Given the description of an element on the screen output the (x, y) to click on. 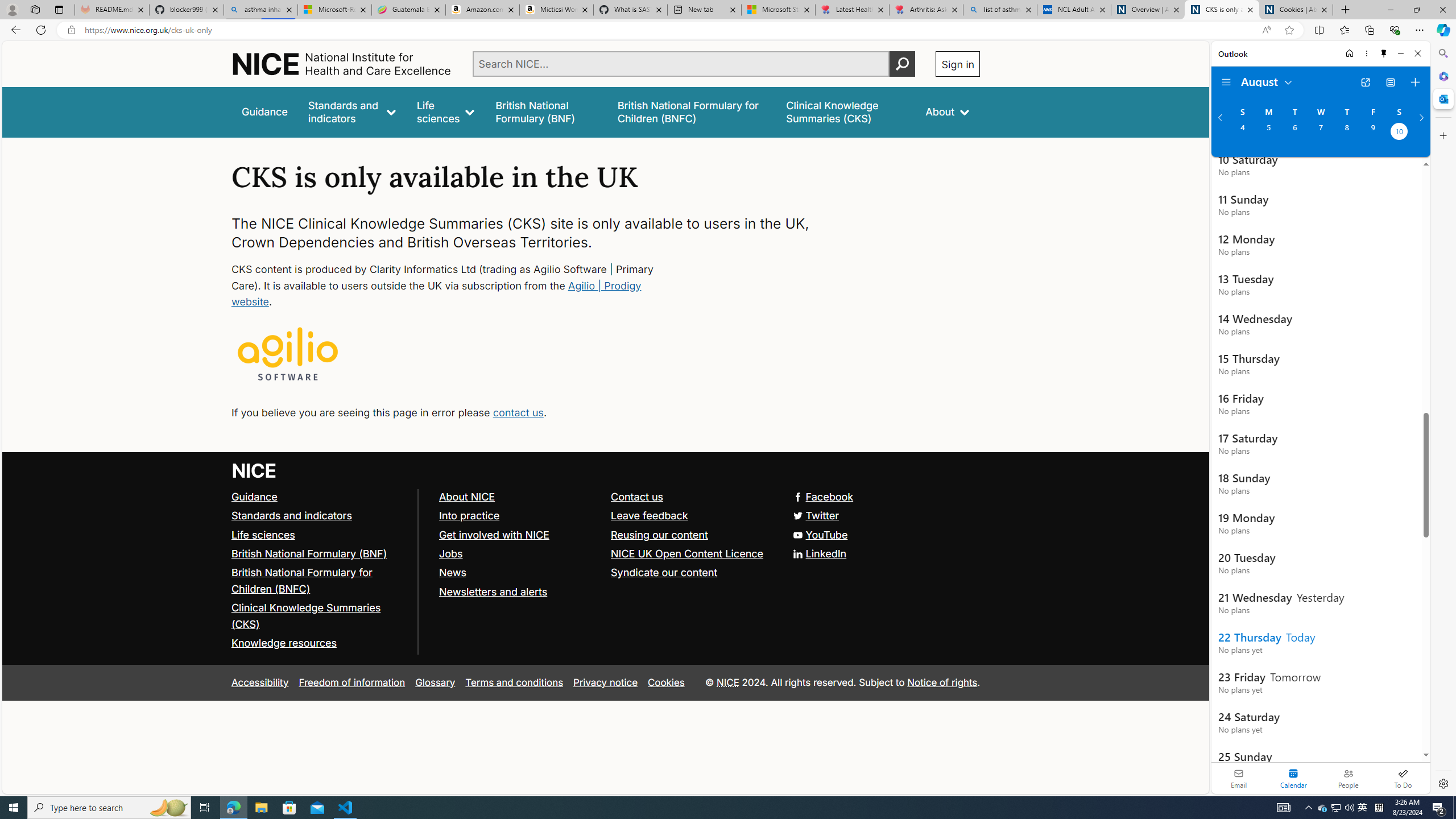
Refresh (40, 29)
About NICE (466, 496)
Browser essentials (1394, 29)
Wednesday, August 7, 2024.  (1320, 132)
Life sciences (263, 534)
false (845, 111)
New Tab (1346, 9)
About (947, 111)
Into practice (518, 515)
NICE UK Open Content Licence (692, 553)
News (451, 571)
Selected calendar module. Date today is 22 (1293, 777)
Settings and more (Alt+F) (1419, 29)
